Given the description of an element on the screen output the (x, y) to click on. 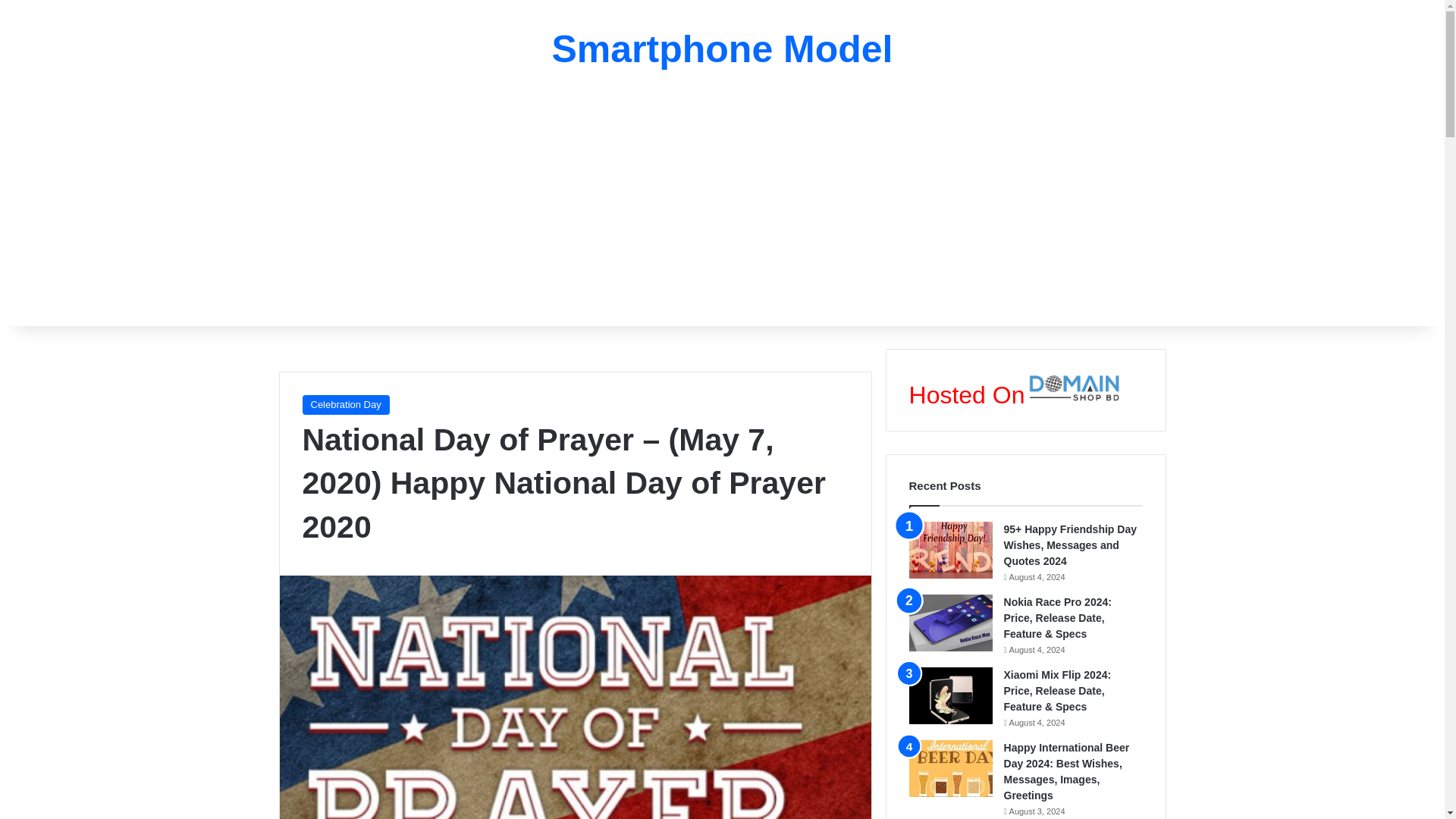
Smartphone Model (721, 48)
Celebration Day (344, 404)
Smartphone Model (721, 48)
